Given the description of an element on the screen output the (x, y) to click on. 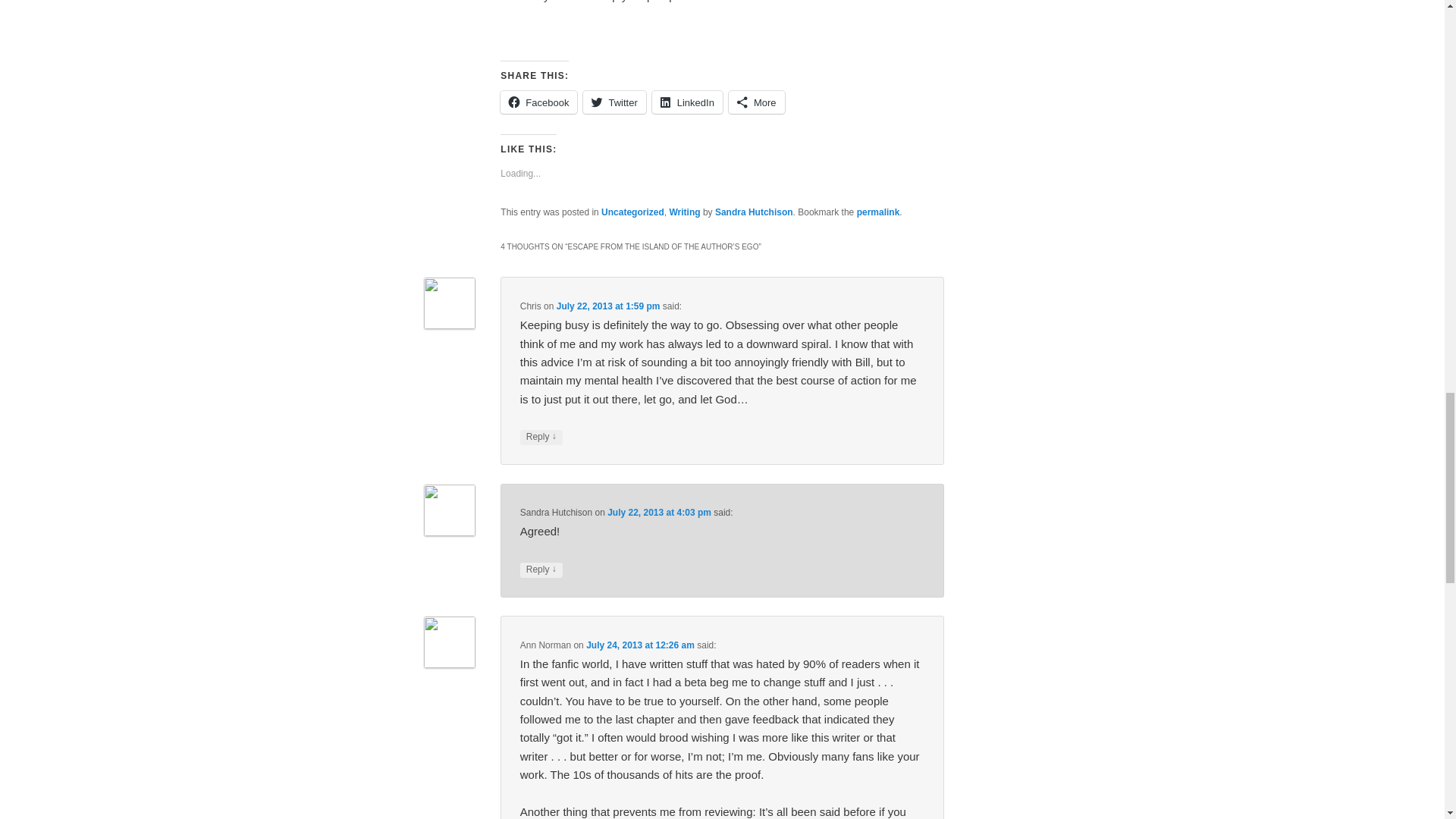
Facebook (538, 101)
Click to share on Twitter (614, 101)
Click to share on LinkedIn (687, 101)
Click to share on Facebook (538, 101)
